Given the description of an element on the screen output the (x, y) to click on. 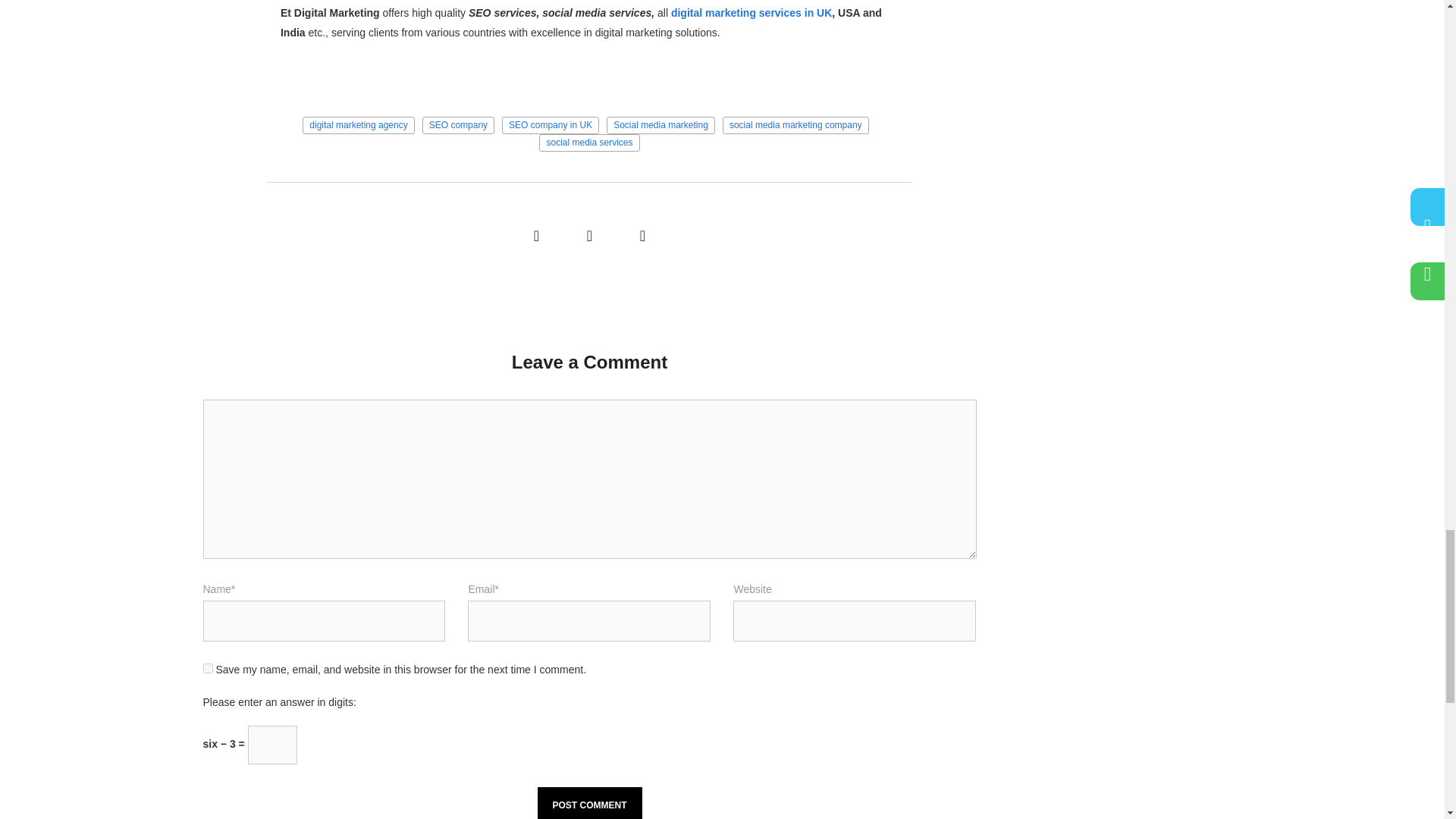
Pin this. (642, 231)
Tweet this. (589, 231)
Post Comment (589, 803)
Share this. (535, 231)
yes (207, 668)
